Given the description of an element on the screen output the (x, y) to click on. 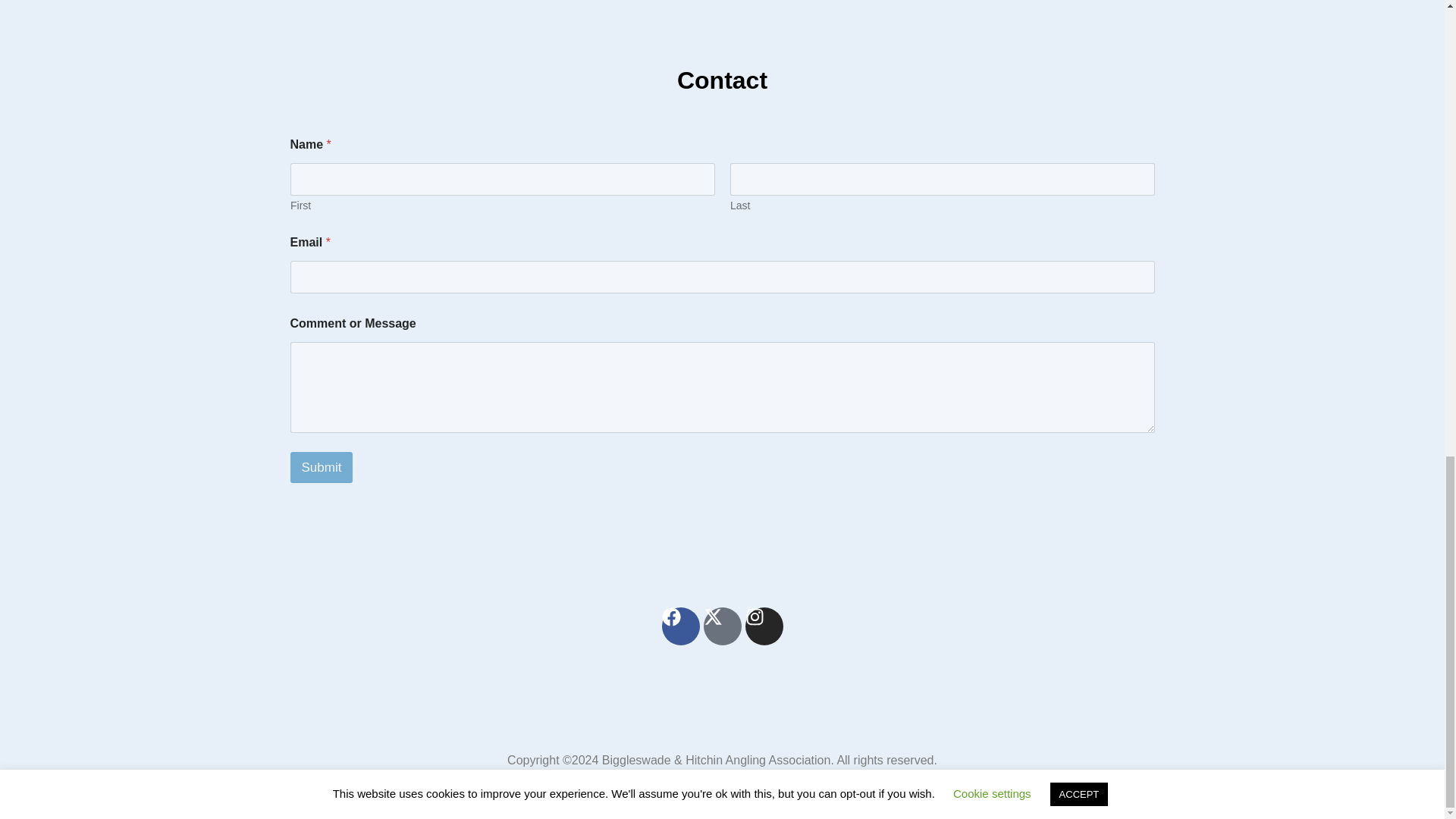
Submit (320, 467)
